Given the description of an element on the screen output the (x, y) to click on. 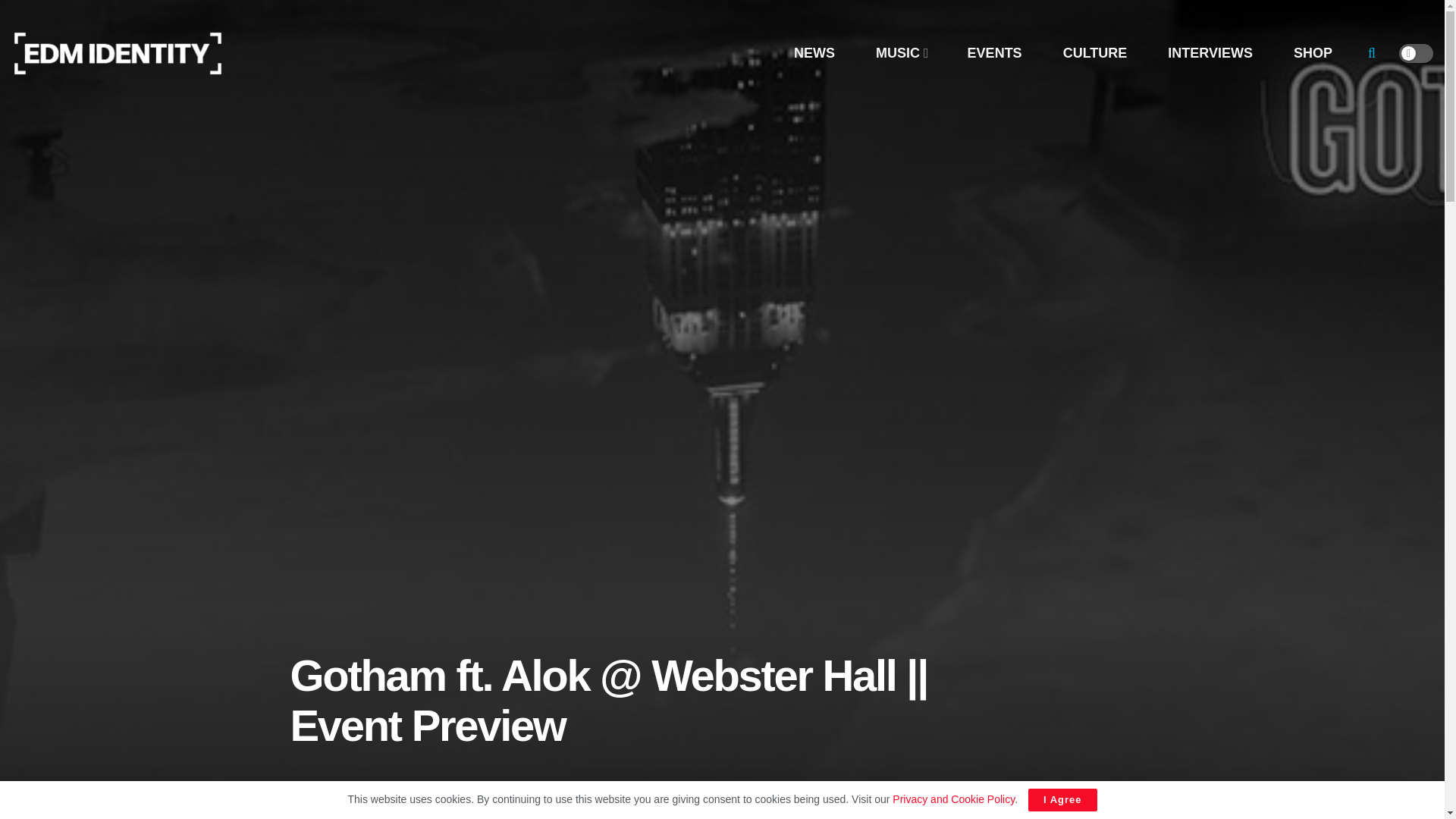
January 13, 2017 (486, 816)
Cliff Moore (394, 816)
INTERVIEWS (1210, 53)
EVENTS (994, 53)
NEWS (814, 53)
MUSIC (901, 53)
Club Events (569, 816)
CULTURE (1095, 53)
SHOP (1312, 53)
